Given the description of an element on the screen output the (x, y) to click on. 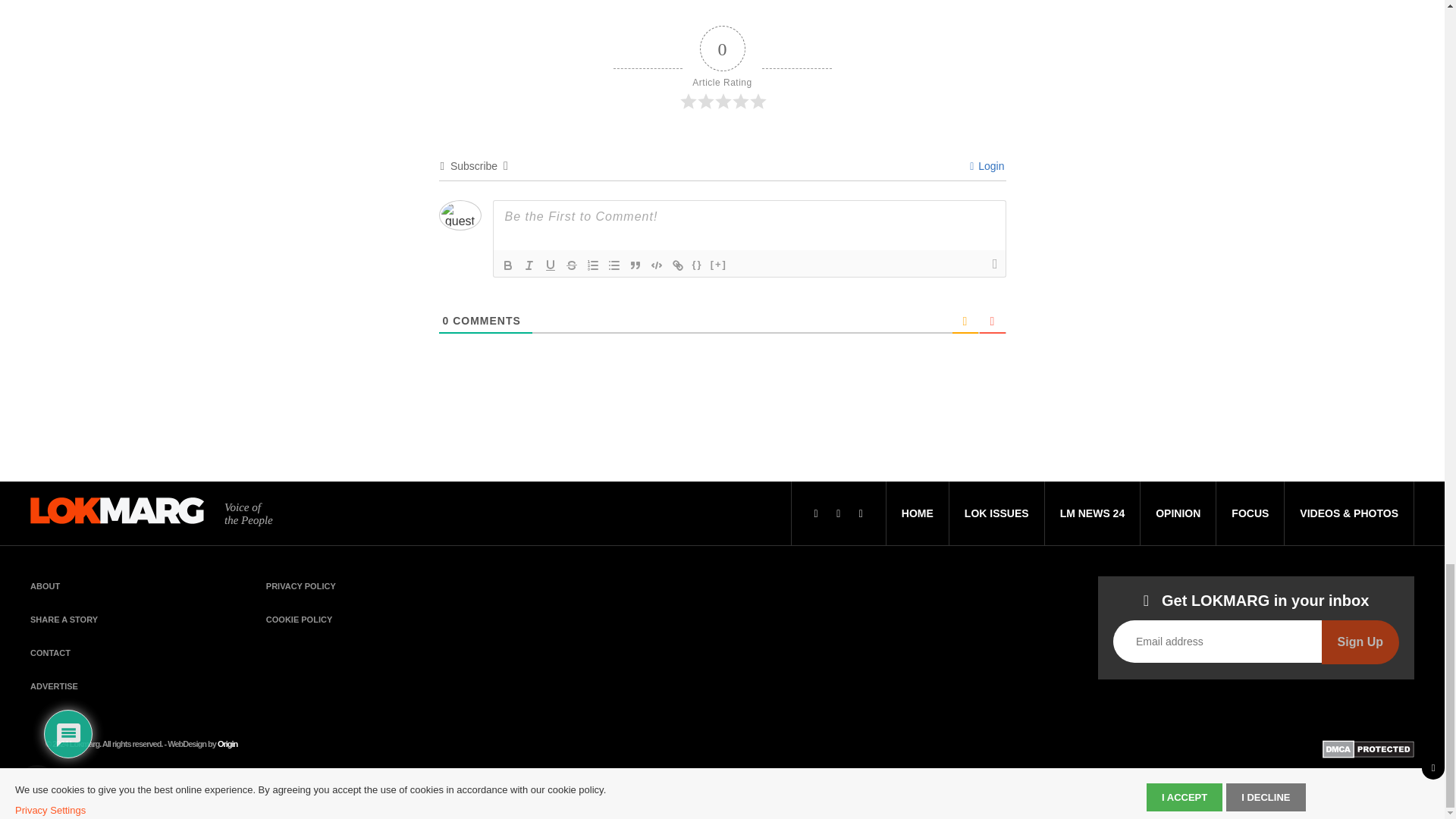
Login (986, 165)
Sign Up (1360, 641)
